Given the description of an element on the screen output the (x, y) to click on. 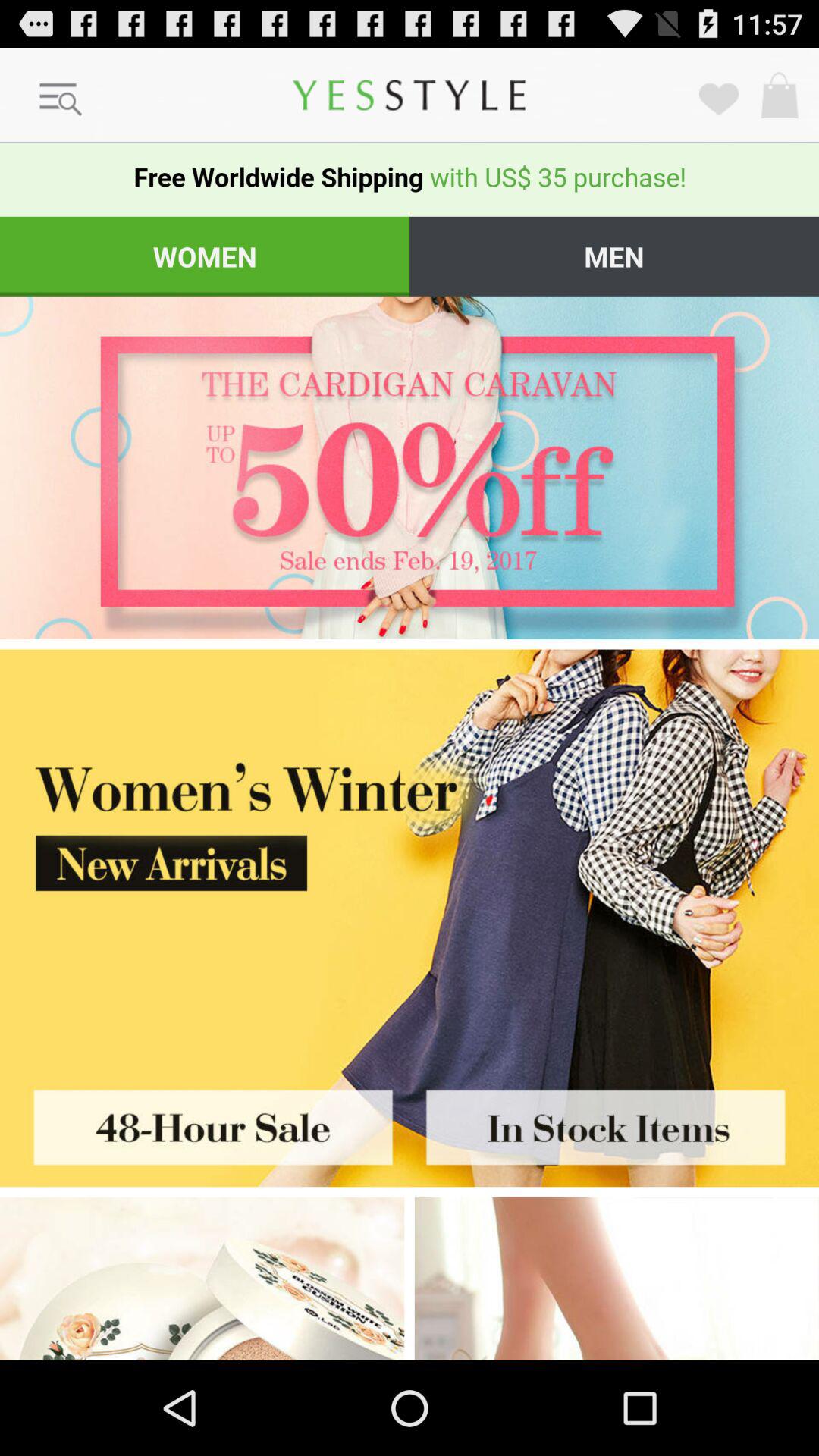
percentage page (409, 467)
